Given the description of an element on the screen output the (x, y) to click on. 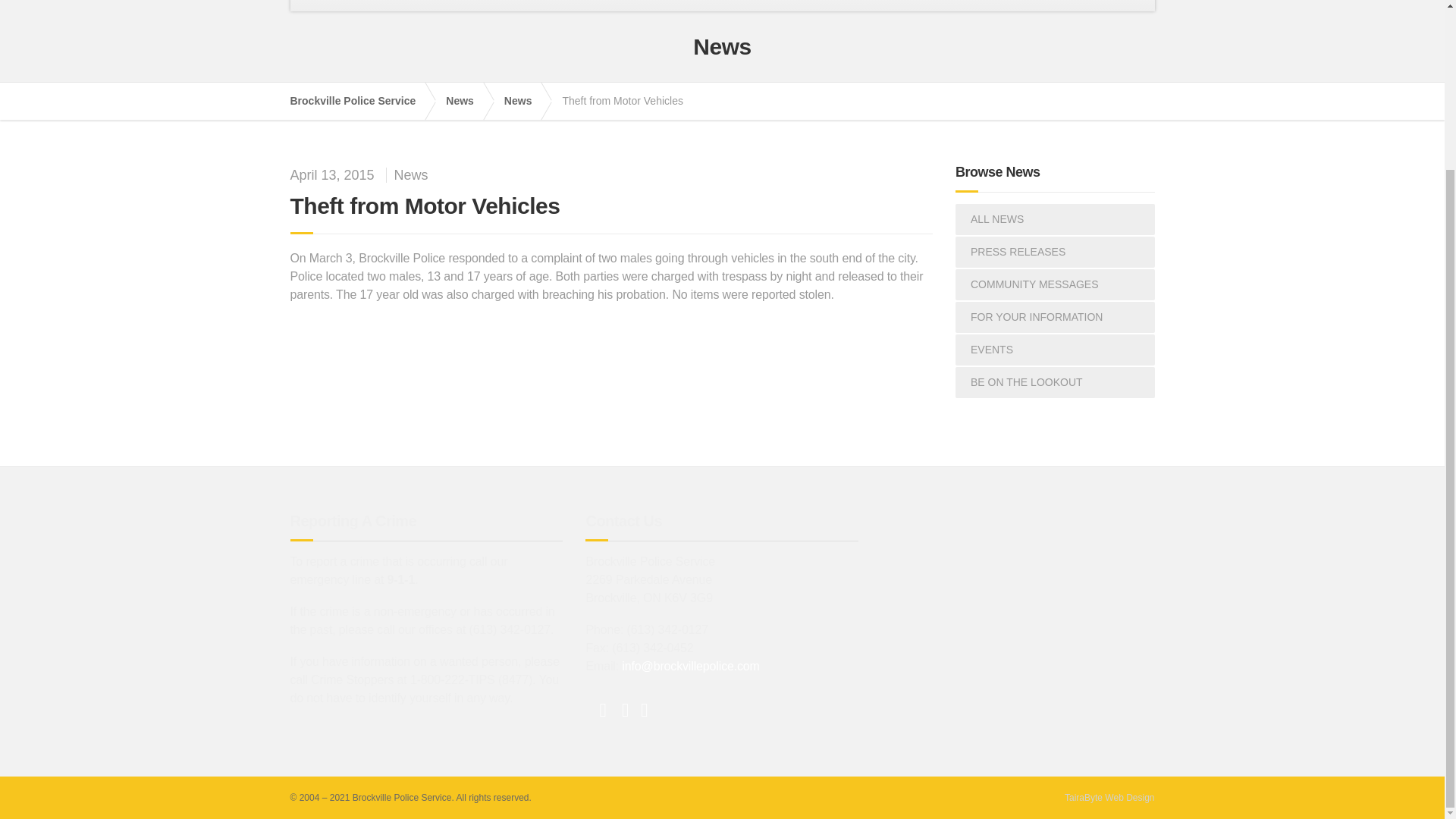
Contact (855, 5)
